Given the description of an element on the screen output the (x, y) to click on. 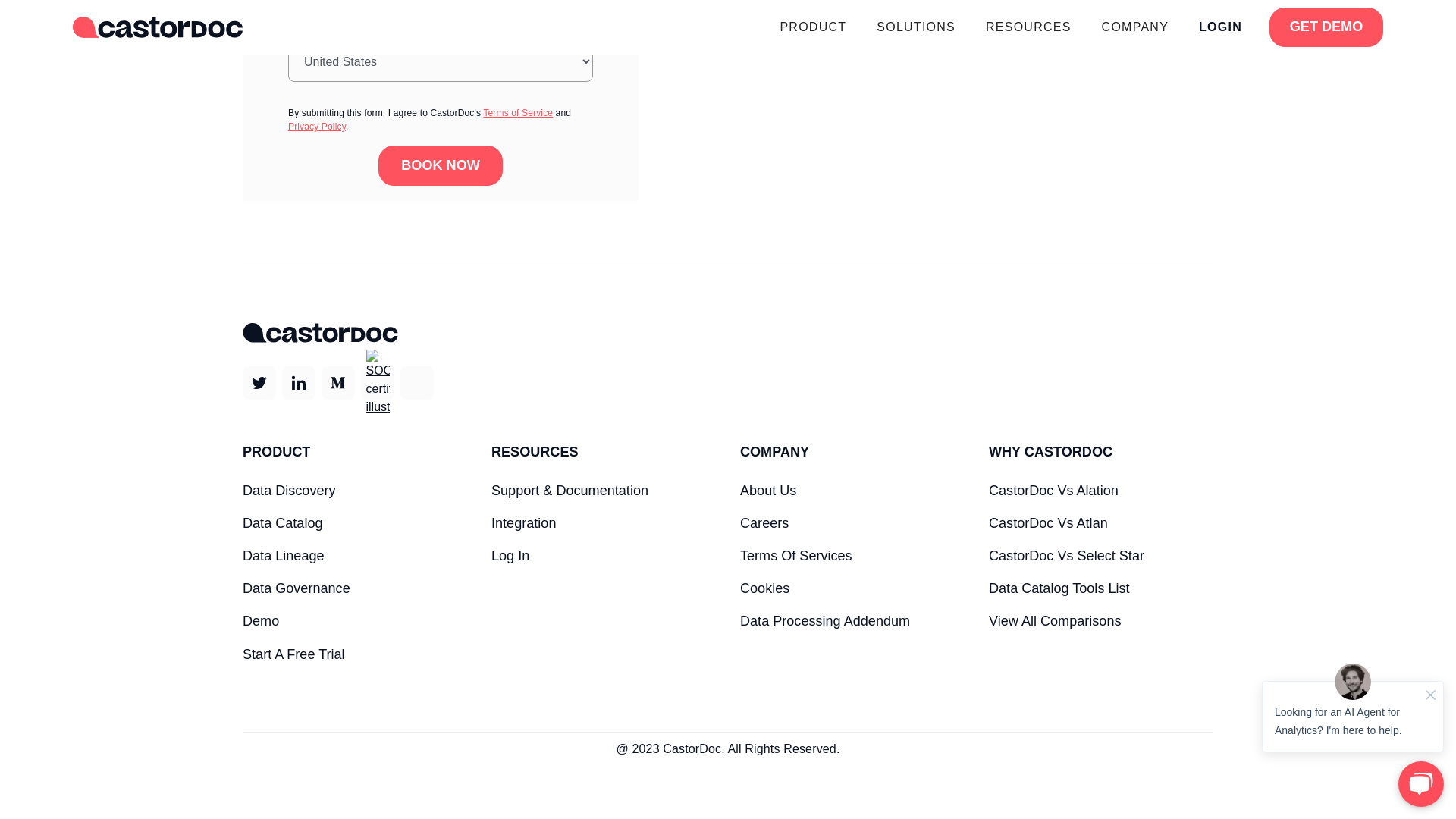
Book Now (440, 165)
